Given the description of an element on the screen output the (x, y) to click on. 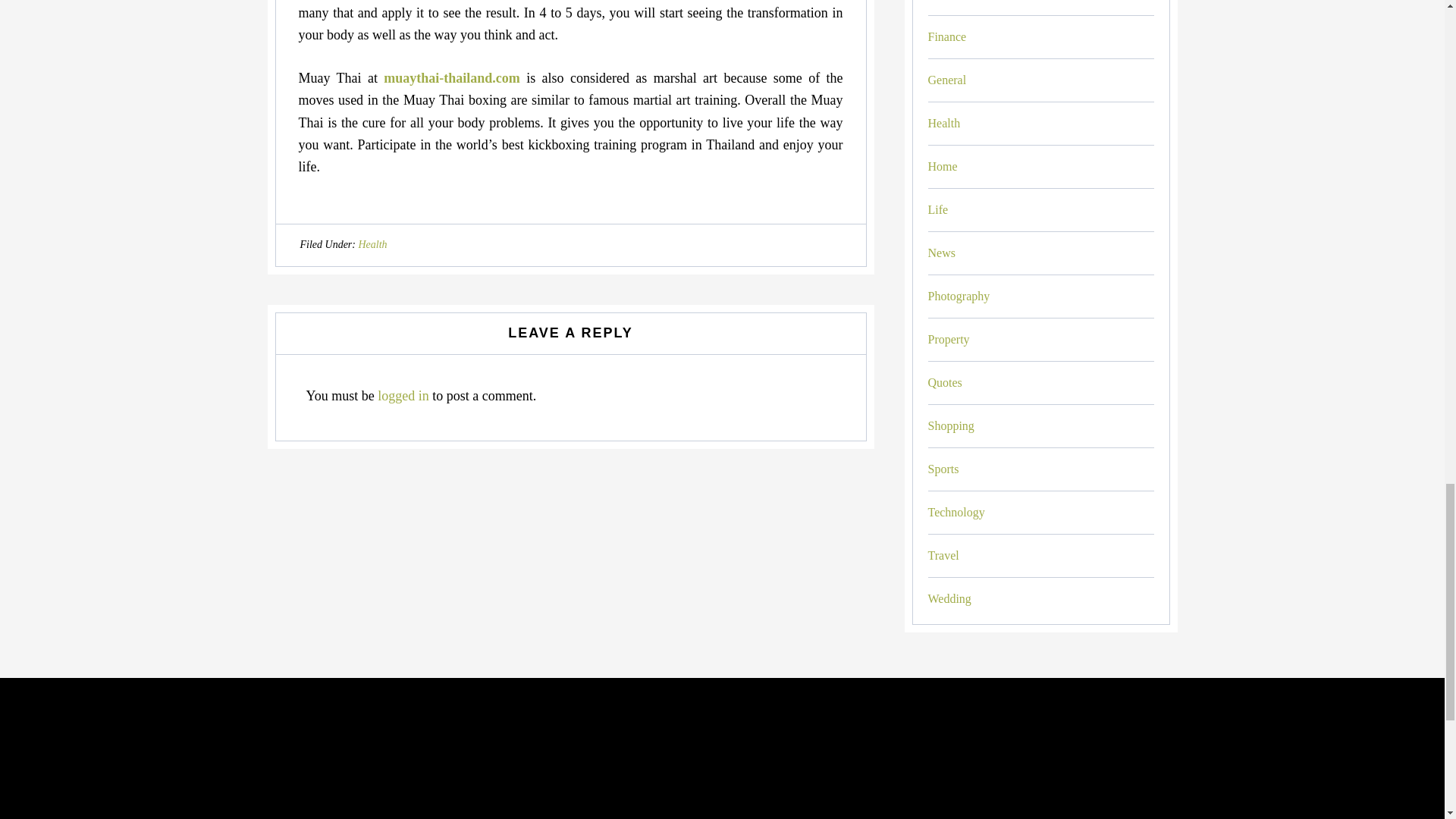
logged in (403, 395)
Health (372, 244)
muaythai-thailand.com (451, 77)
Finance (947, 36)
